Given the description of an element on the screen output the (x, y) to click on. 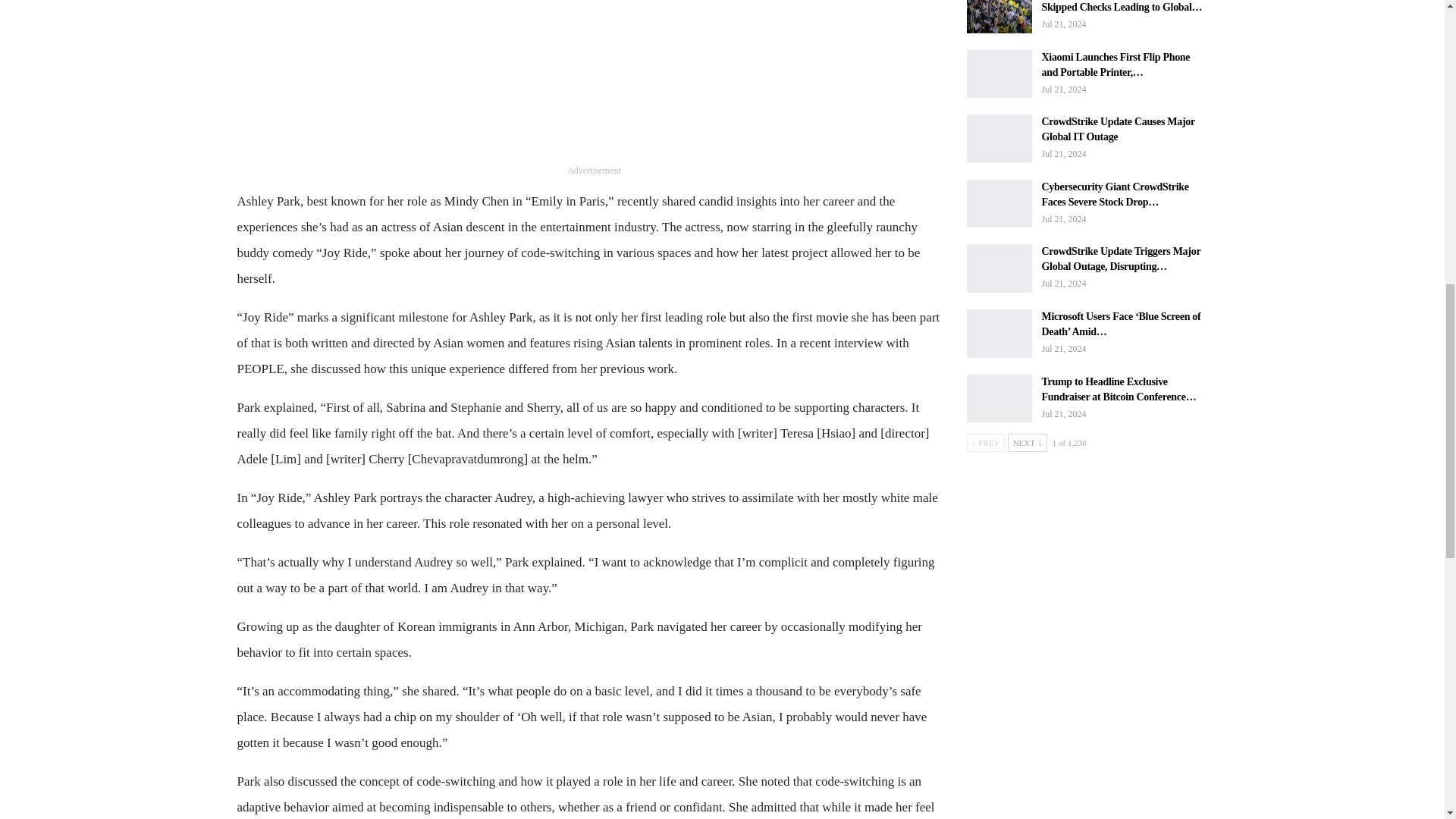
Advertisement (592, 80)
